Given the description of an element on the screen output the (x, y) to click on. 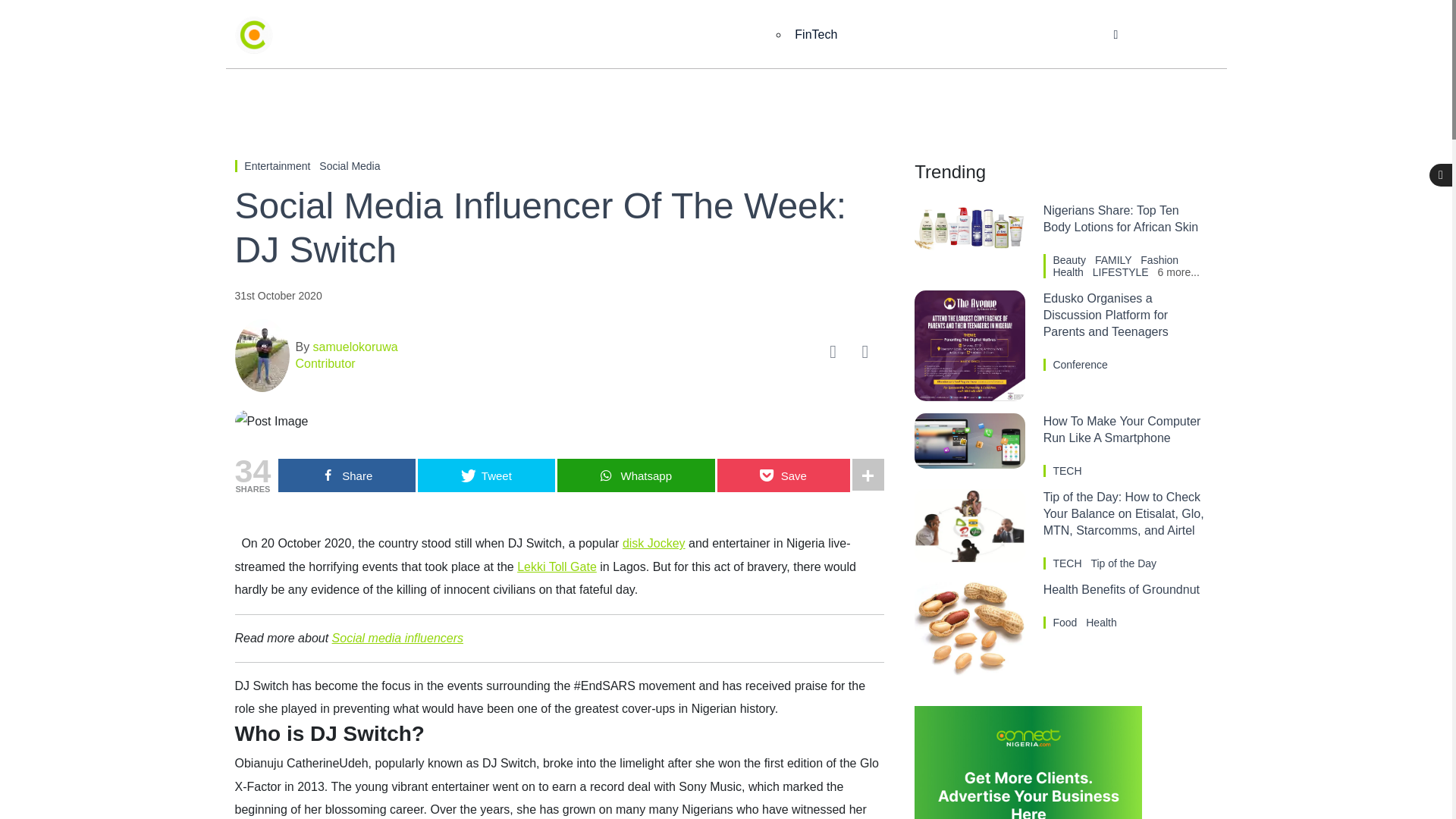
Politics (739, 34)
Entertainment (278, 165)
FinTech (816, 34)
FinTech (816, 34)
Tweet (485, 475)
Opportunities (1037, 34)
Entertainment (646, 34)
Opportunities (1037, 34)
Share (346, 475)
disk Jockey (654, 543)
samuelokoruwa (352, 346)
Lifestyle (943, 34)
Business (547, 34)
Save (783, 475)
Home (469, 34)
